Given the description of an element on the screen output the (x, y) to click on. 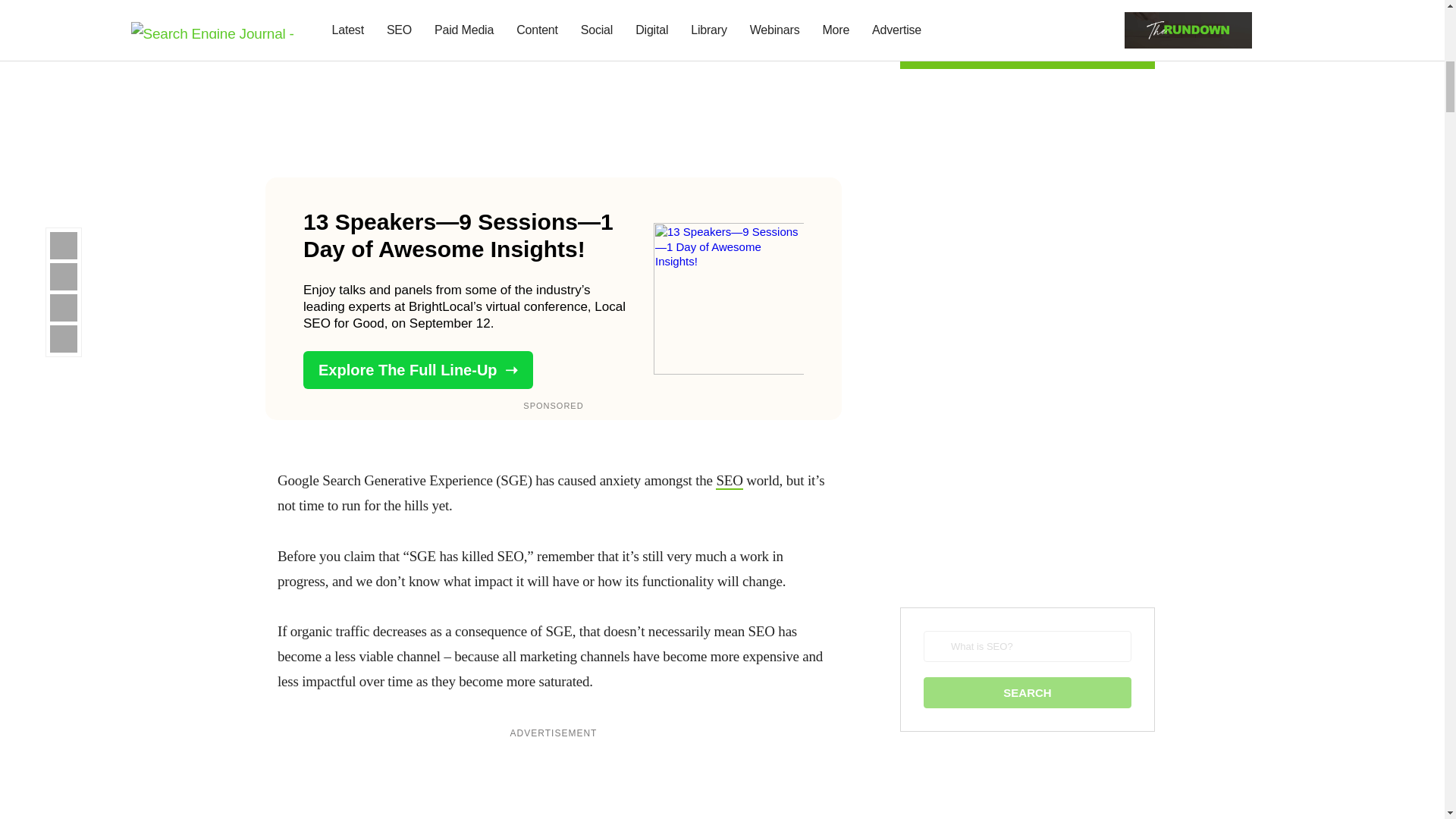
SEARCH (1027, 692)
SEARCH (1027, 692)
